Given the description of an element on the screen output the (x, y) to click on. 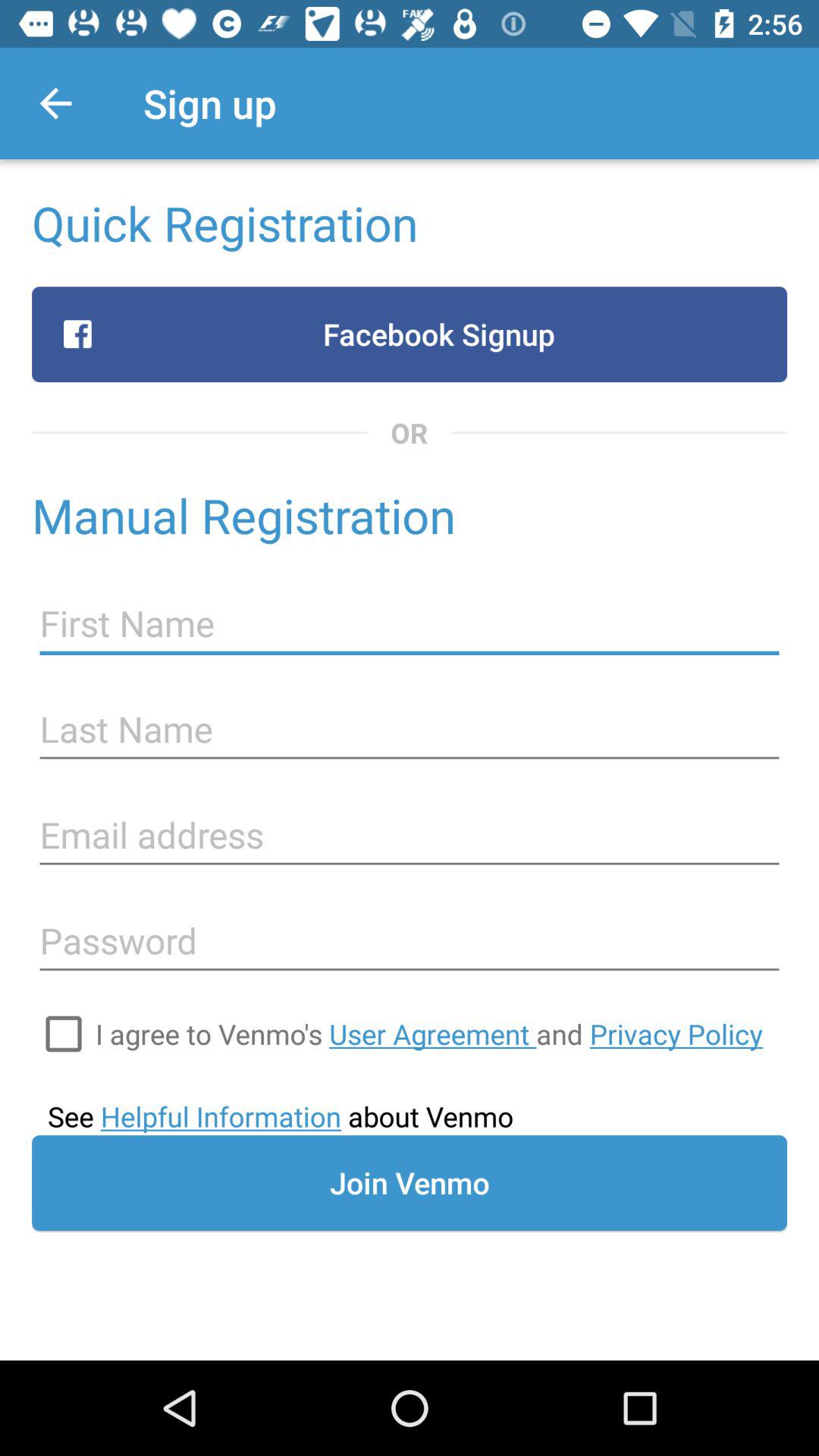
press the icon to the left of sign up (55, 103)
